Given the description of an element on the screen output the (x, y) to click on. 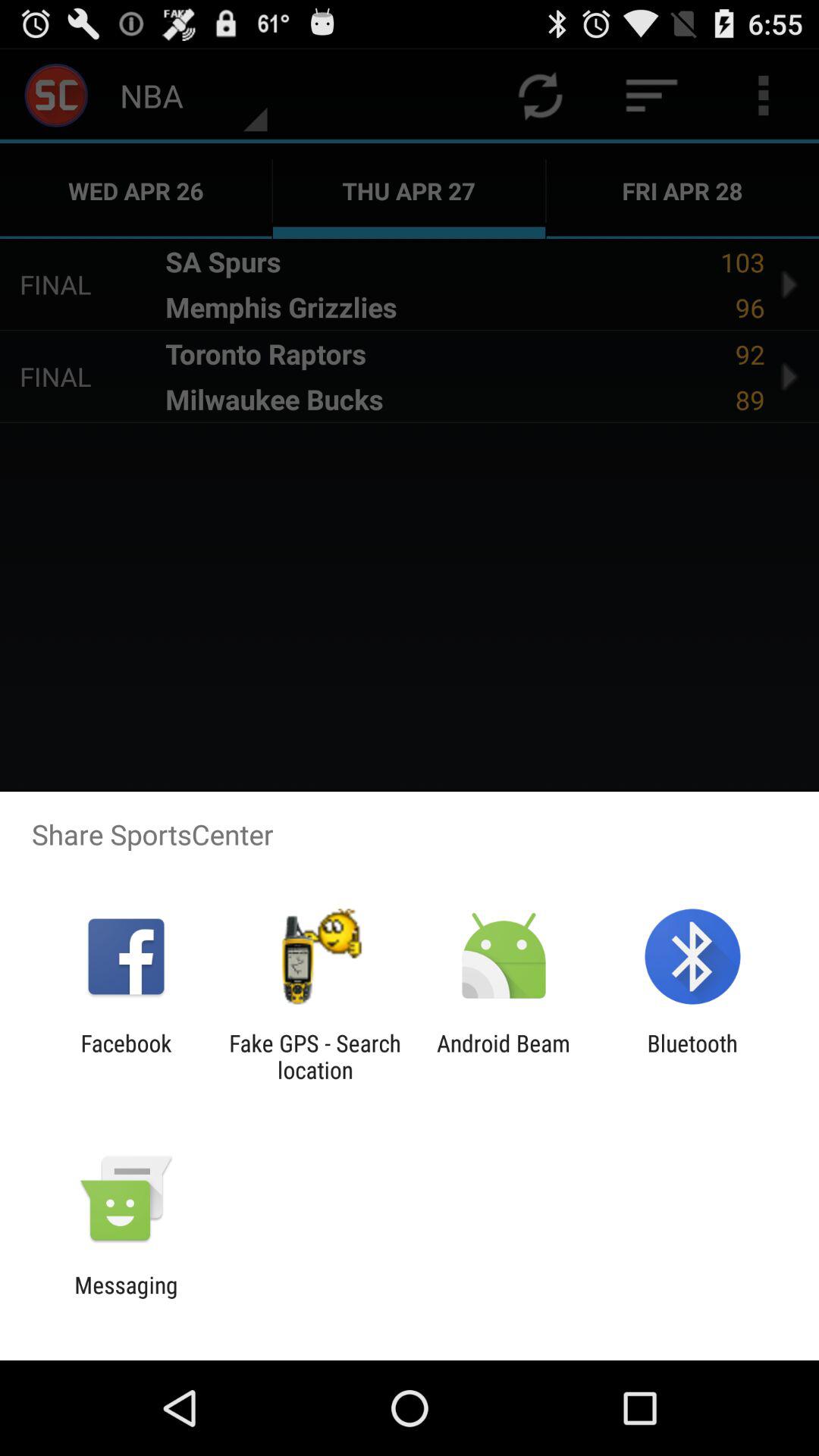
turn on the bluetooth (692, 1056)
